Given the description of an element on the screen output the (x, y) to click on. 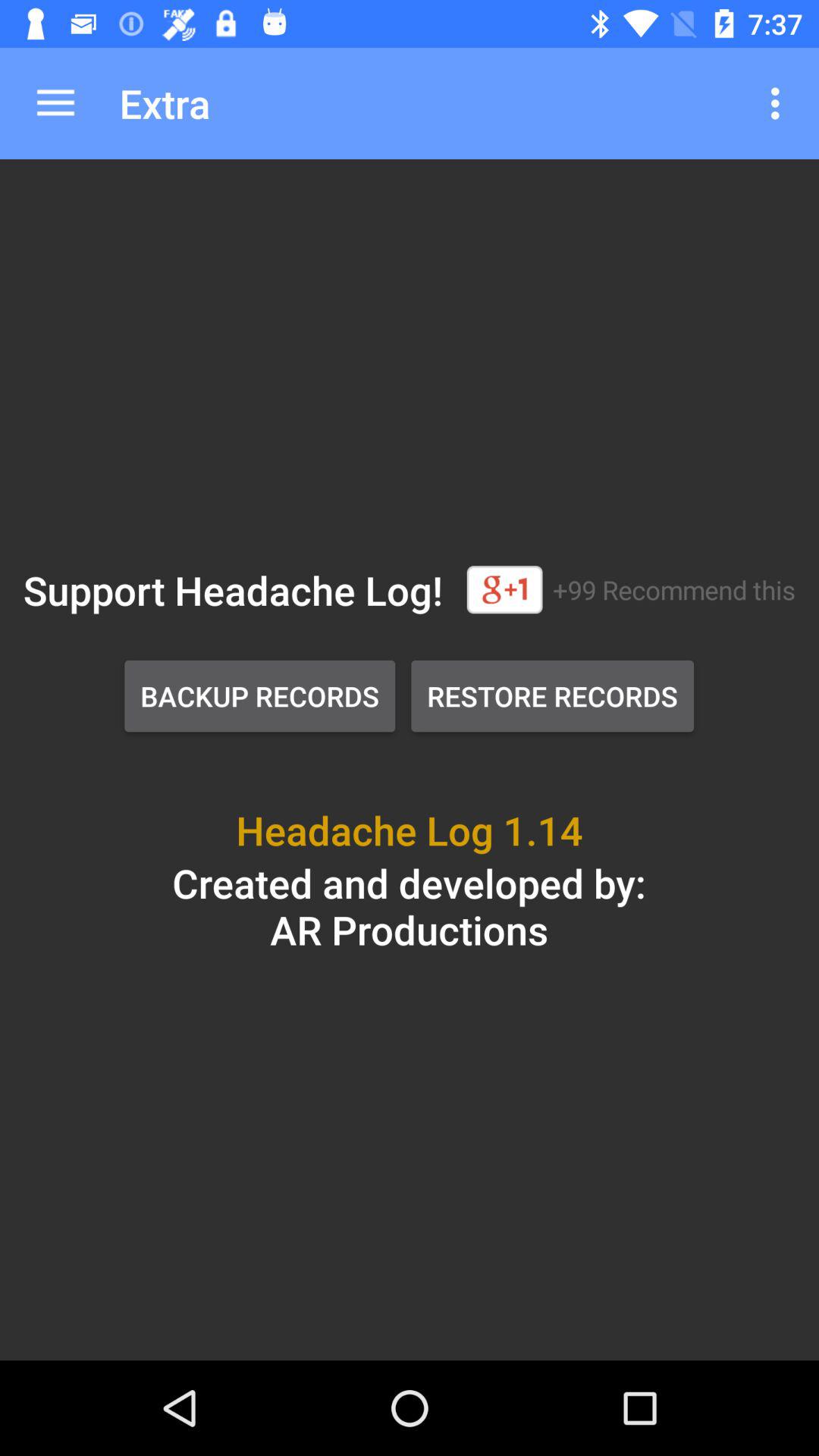
tap the app next to extra app (55, 103)
